Given the description of an element on the screen output the (x, y) to click on. 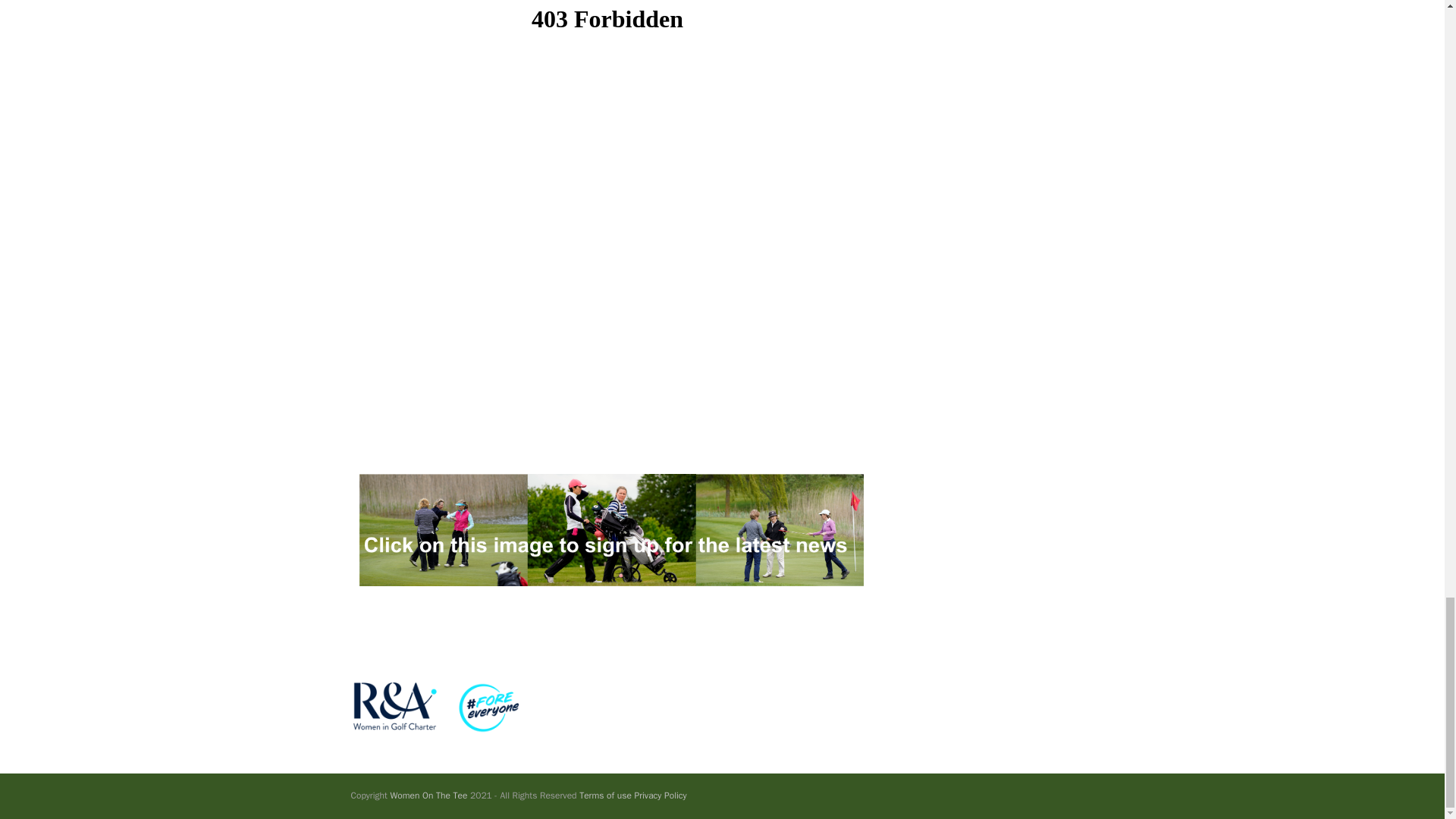
3 picture - click to sign up to newsletter (606, 530)
